Given the description of an element on the screen output the (x, y) to click on. 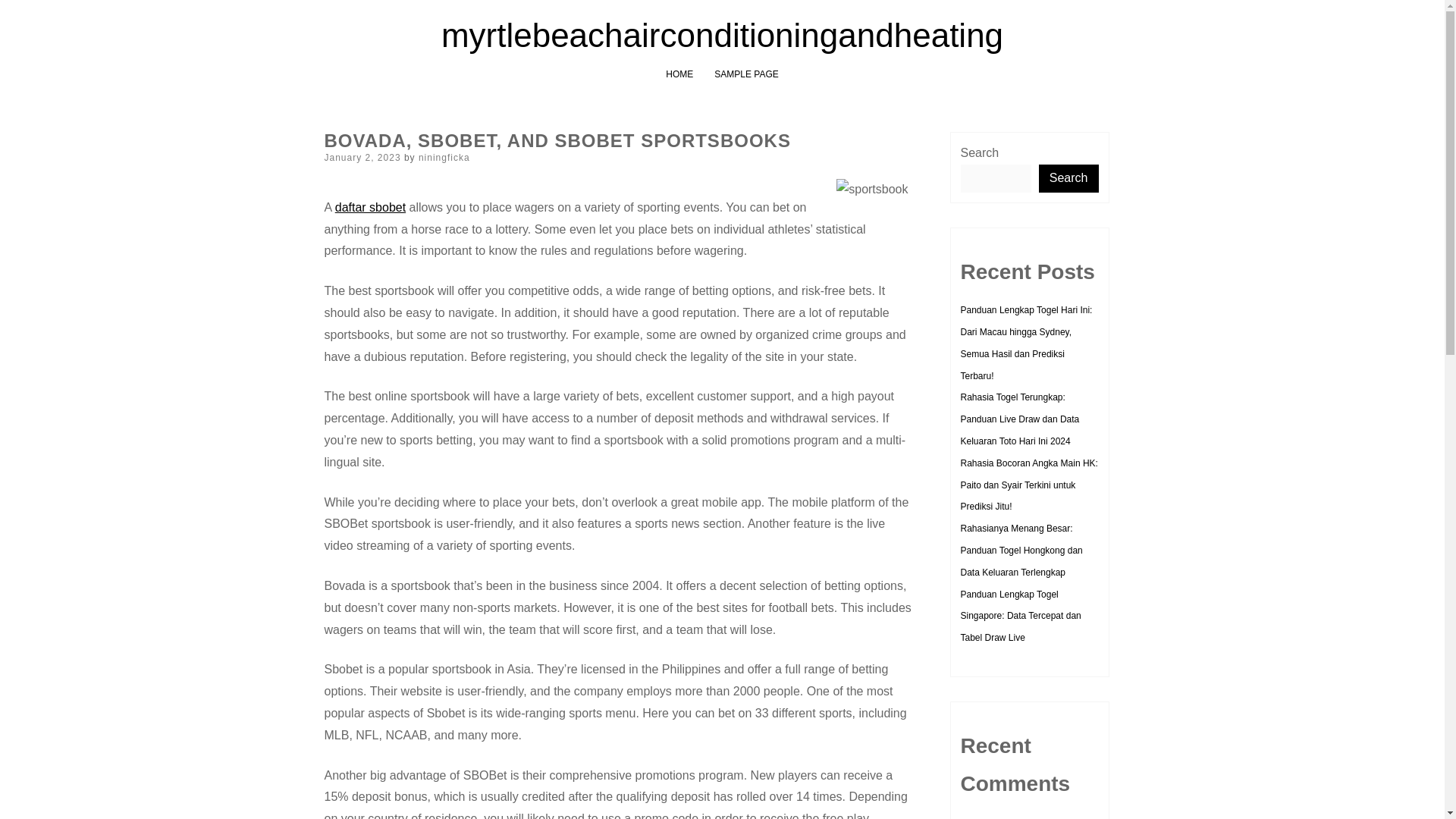
myrtlebeachairconditioningandheating (722, 35)
daftar sbobet (370, 206)
January 2, 2023 (362, 157)
A WordPress Commenter (1010, 818)
niningficka (444, 157)
SAMPLE PAGE (745, 73)
